Given the description of an element on the screen output the (x, y) to click on. 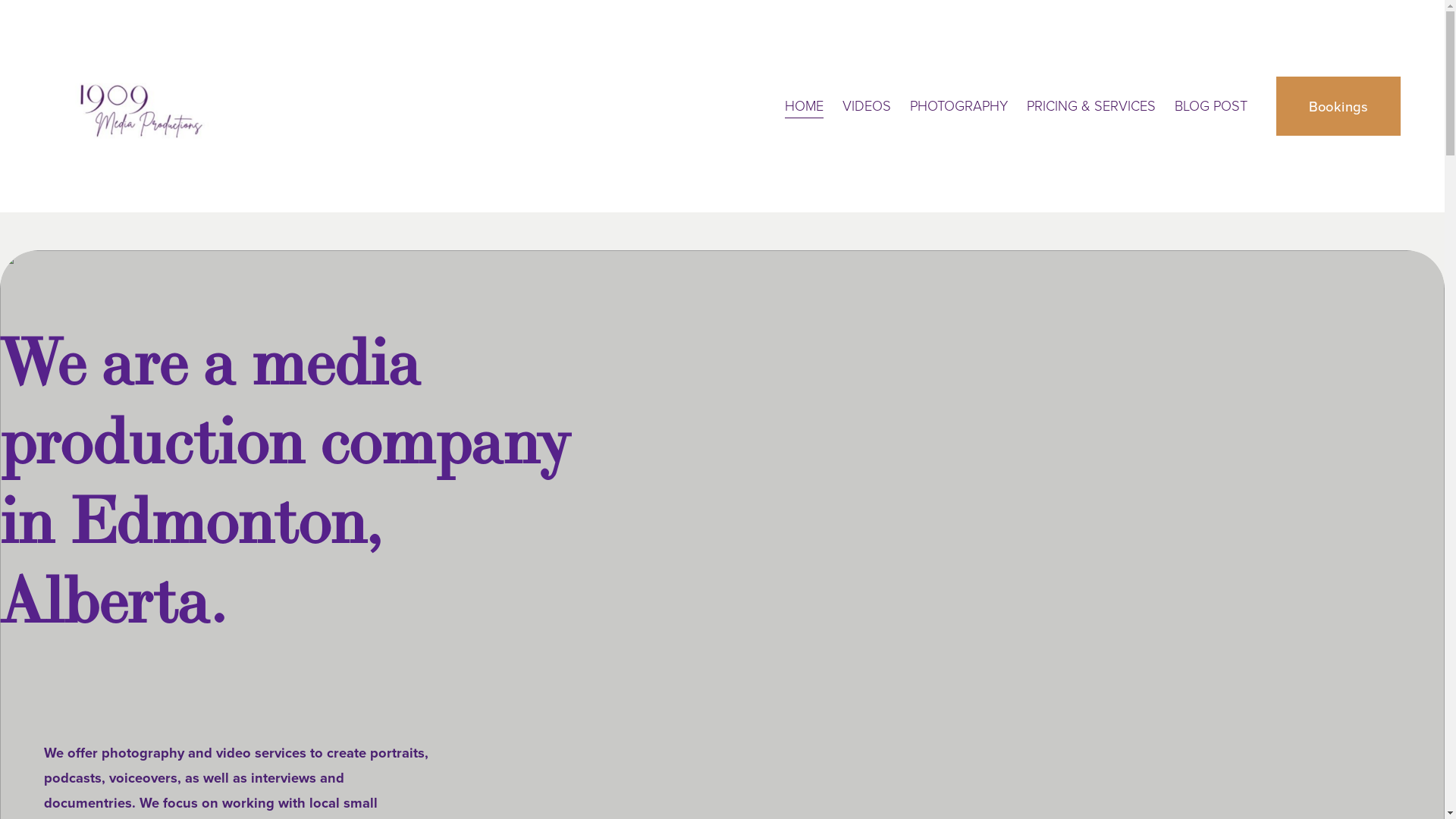
VIDEOS Element type: text (866, 106)
Bookings Element type: text (1338, 105)
PHOTOGRAPHY Element type: text (958, 106)
HOME Element type: text (803, 106)
PRICING & SERVICES Element type: text (1090, 106)
BLOG POST Element type: text (1210, 106)
